Given the description of an element on the screen output the (x, y) to click on. 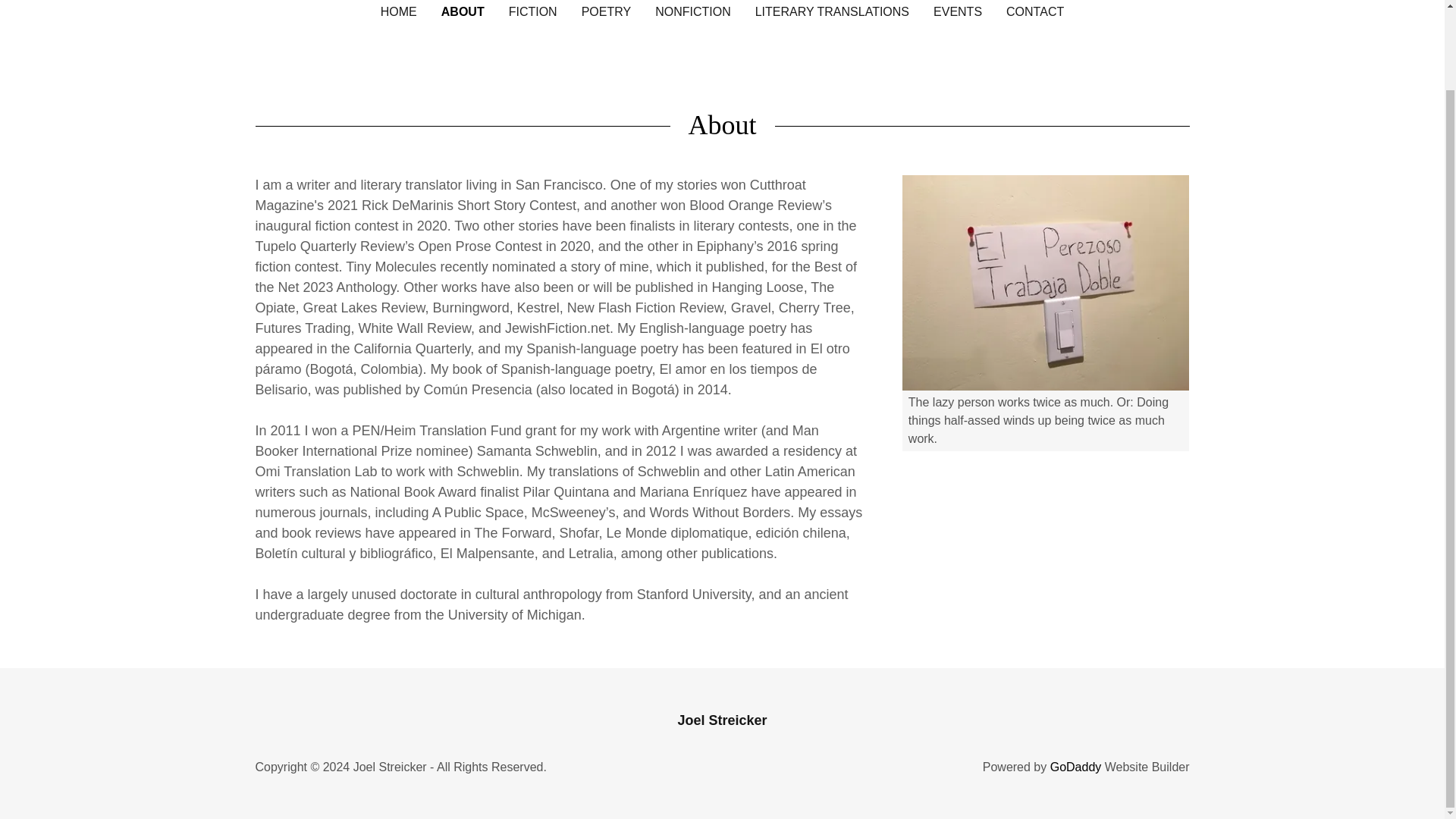
ABOUT (462, 12)
GoDaddy (1075, 766)
NONFICTION (692, 12)
POETRY (606, 12)
LITERARY TRANSLATIONS (832, 12)
HOME (398, 12)
EVENTS (957, 12)
FICTION (532, 12)
CONTACT (1034, 12)
